Given the description of an element on the screen output the (x, y) to click on. 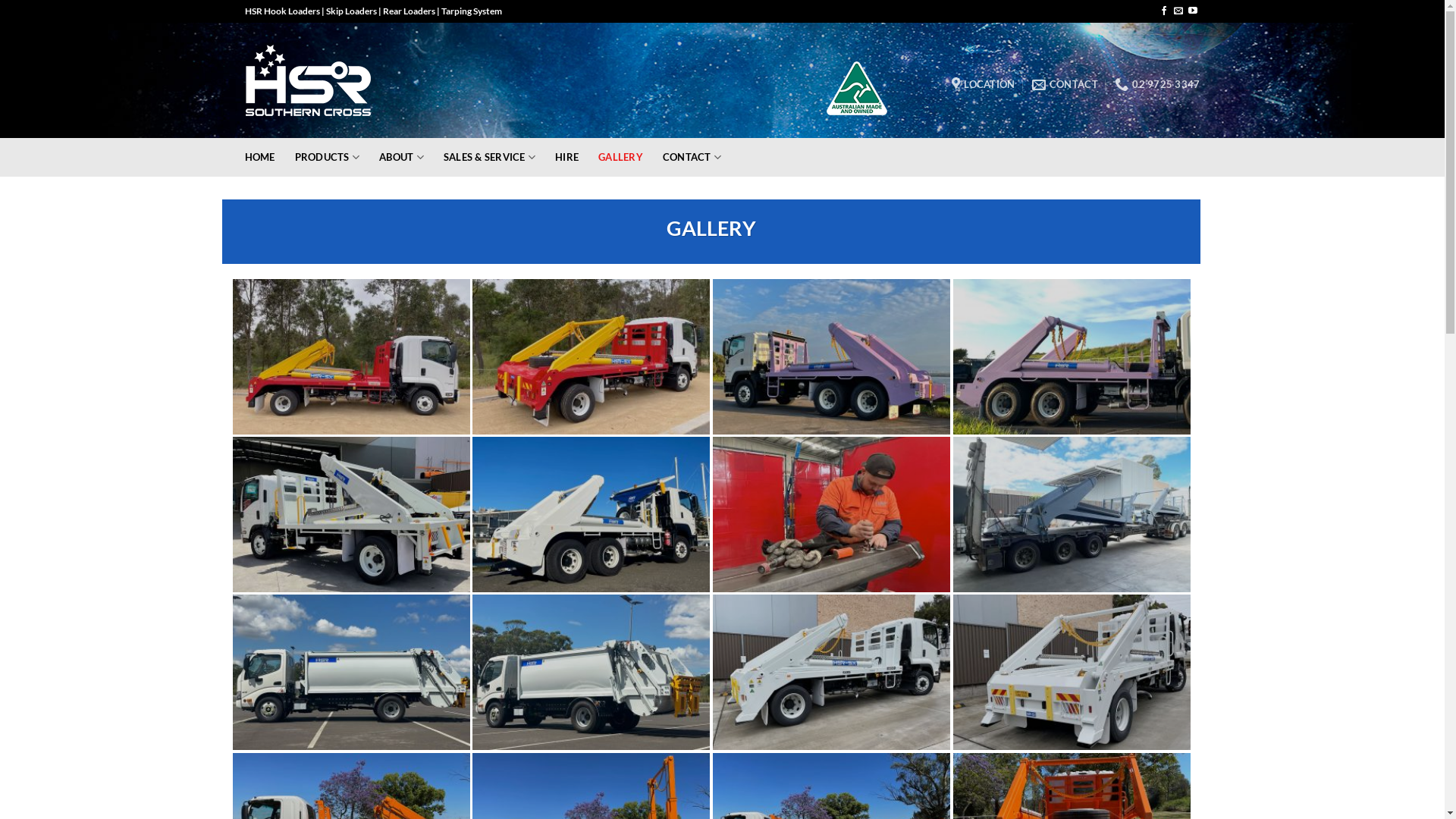
SALES & SERVICE Element type: text (489, 157)
02 9725 3347 Element type: text (1156, 84)
CONTACT Element type: text (691, 157)
HSR - Skip Loaders, Rear Loaders, Hook Loaders Element type: hover (311, 80)
CONTACT Element type: text (1065, 84)
HOME Element type: text (259, 157)
HIRE Element type: text (566, 157)
PRODUCTS Element type: text (327, 157)
GALLERY Element type: text (620, 157)
ABOUT Element type: text (401, 157)
LOCATION Element type: text (982, 84)
